Given the description of an element on the screen output the (x, y) to click on. 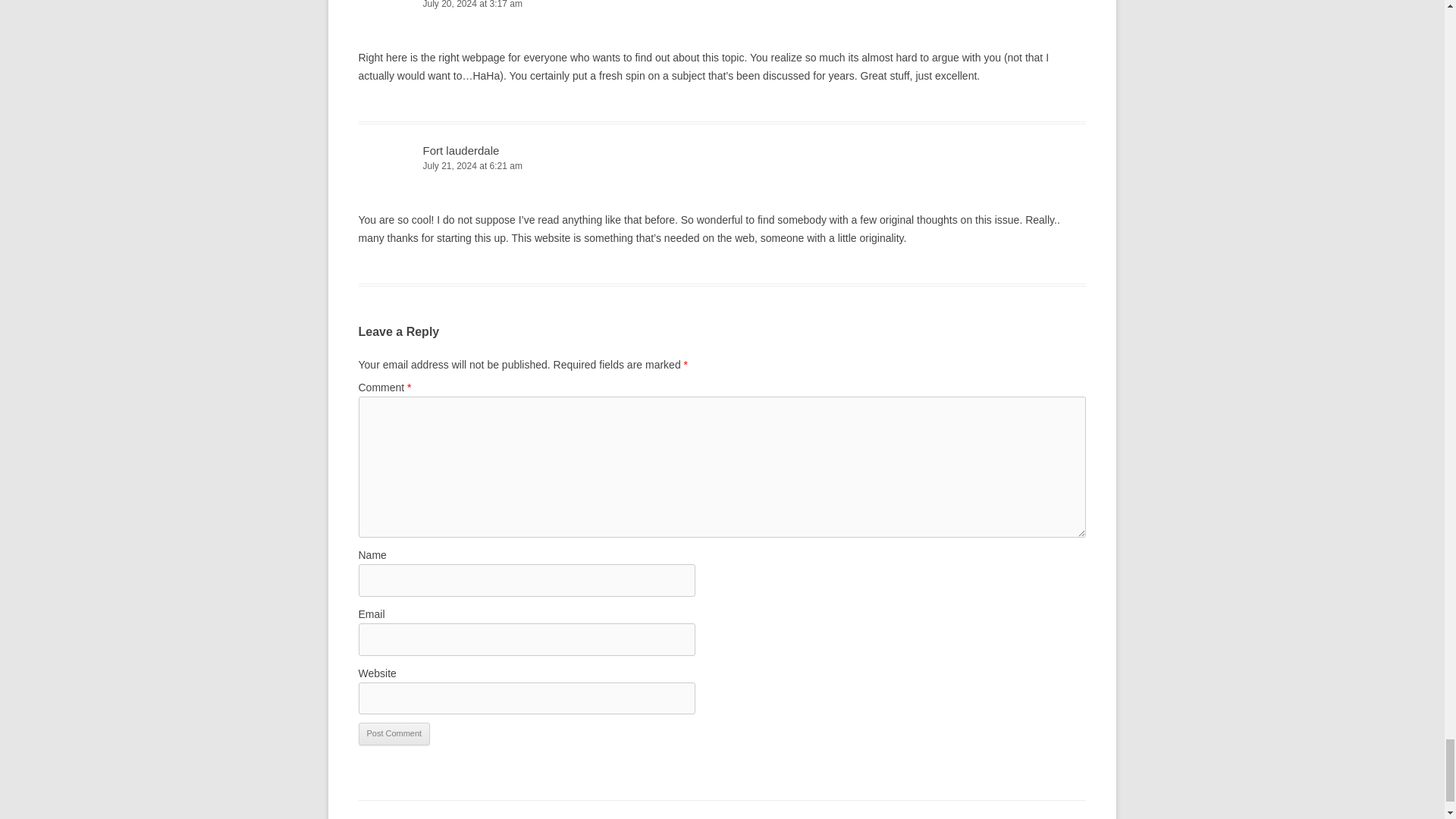
Post Comment (393, 733)
